Given the description of an element on the screen output the (x, y) to click on. 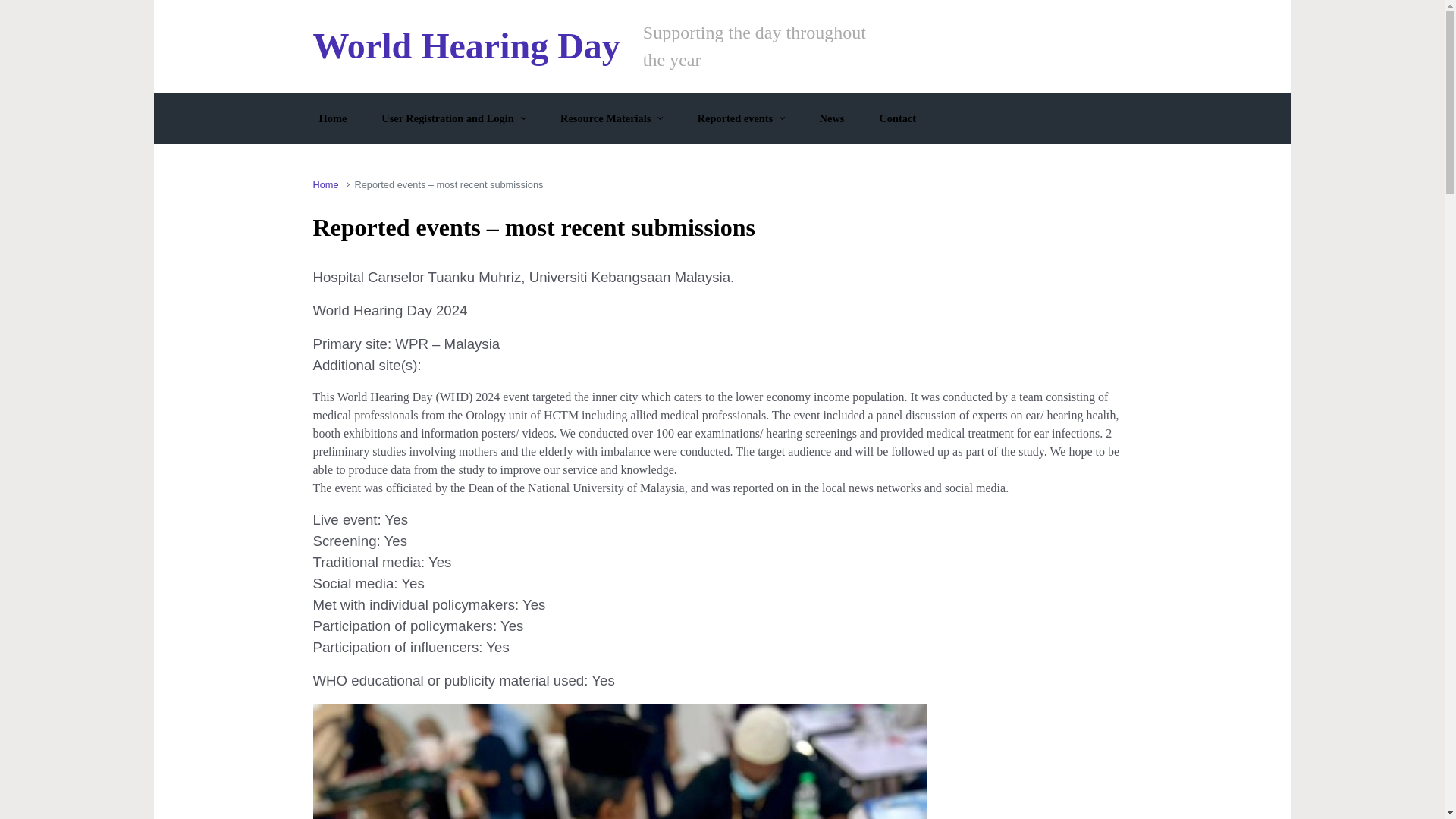
News (831, 118)
User Registration and Login (453, 118)
Reported events (740, 118)
Home (332, 118)
Home (325, 184)
World Hearing Day (466, 45)
Resource Materials (611, 118)
Skip to main content (18, 10)
Contact (896, 118)
